Given the description of an element on the screen output the (x, y) to click on. 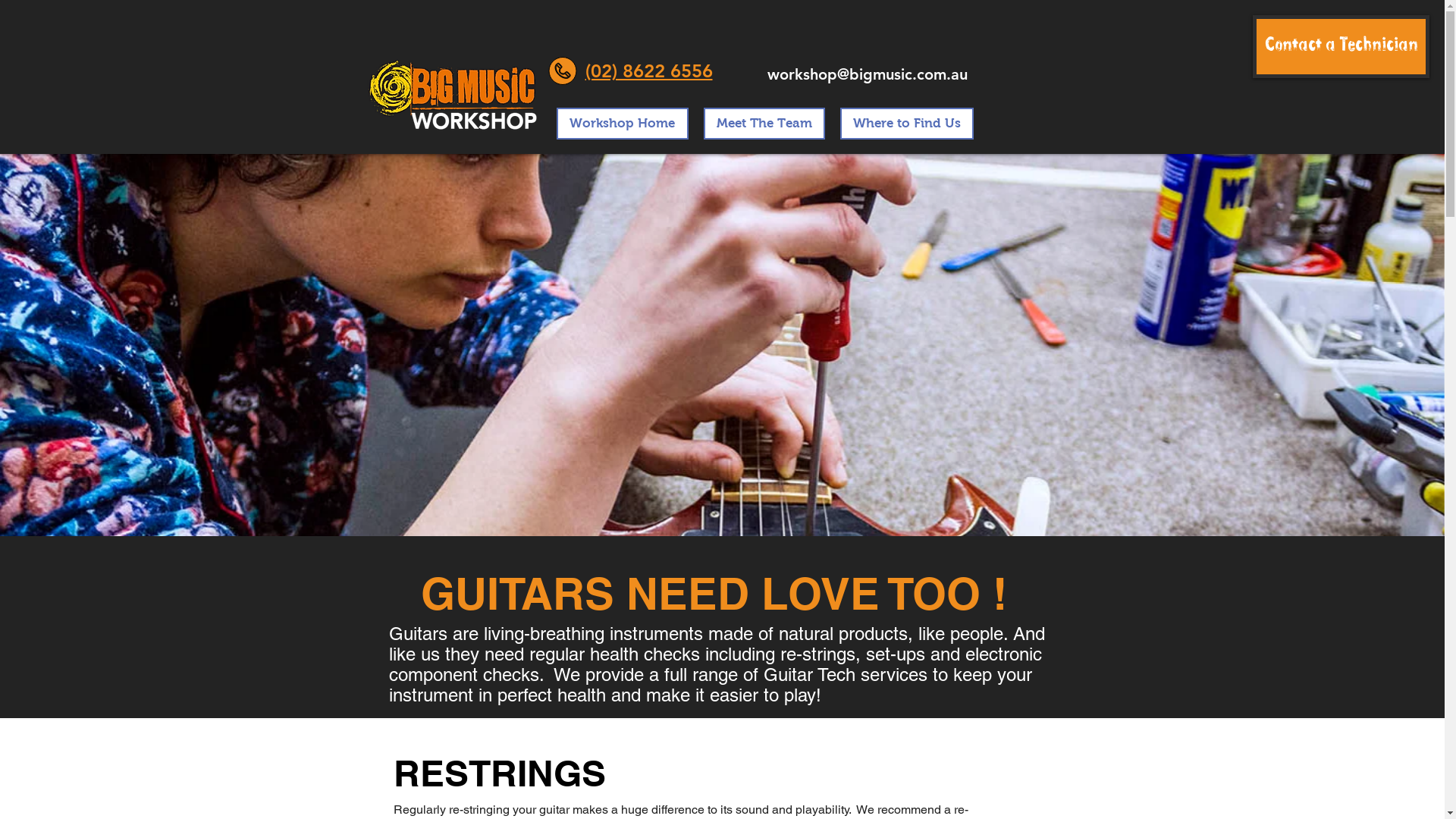
Untitled-1.png Element type: hover (451, 98)
Workshop Home Element type: text (622, 123)
Contact a Technician Element type: text (1340, 46)
Meet The Team Element type: text (764, 123)
(02) 8622 6556 Element type: text (648, 70)
workshop@bigmusic.com.au Element type: text (867, 74)
Where to Find Us Element type: text (906, 123)
